Given the description of an element on the screen output the (x, y) to click on. 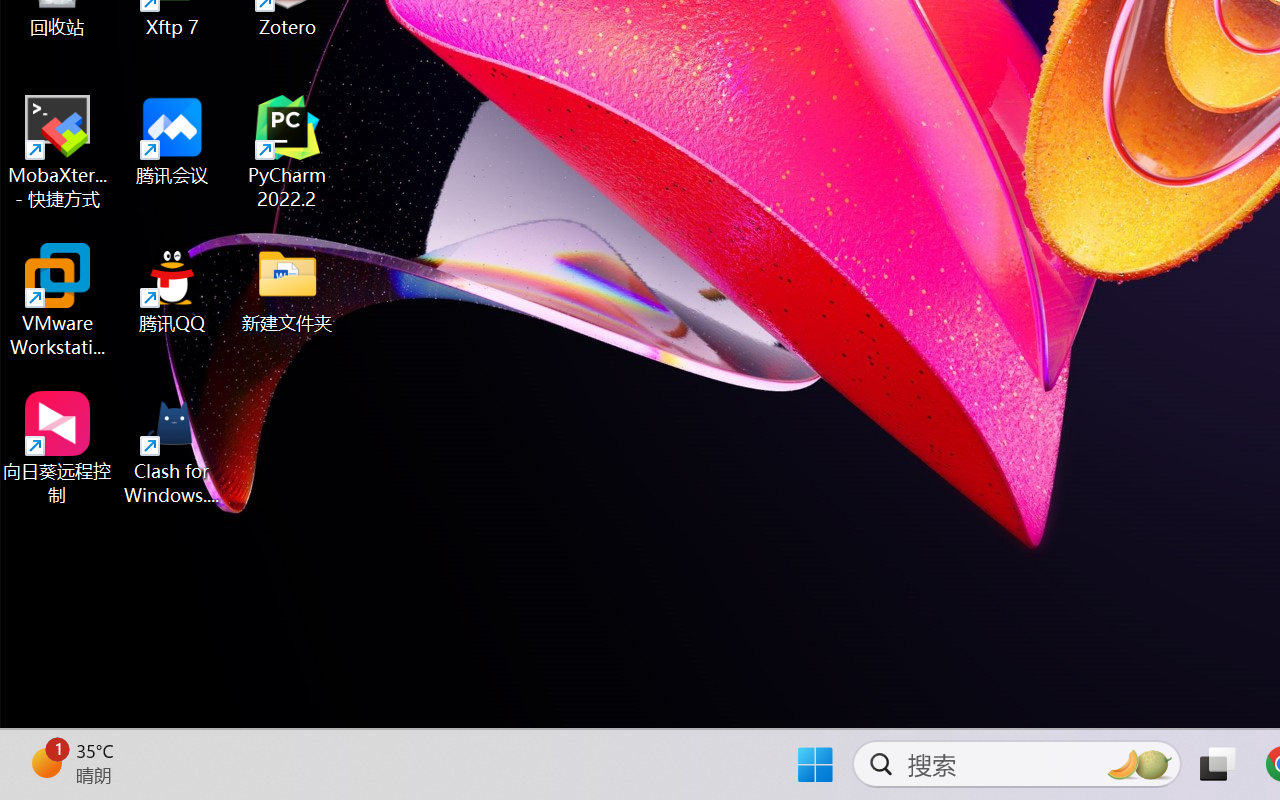
VMware Workstation Pro (57, 300)
PyCharm 2022.2 (287, 152)
